Given the description of an element on the screen output the (x, y) to click on. 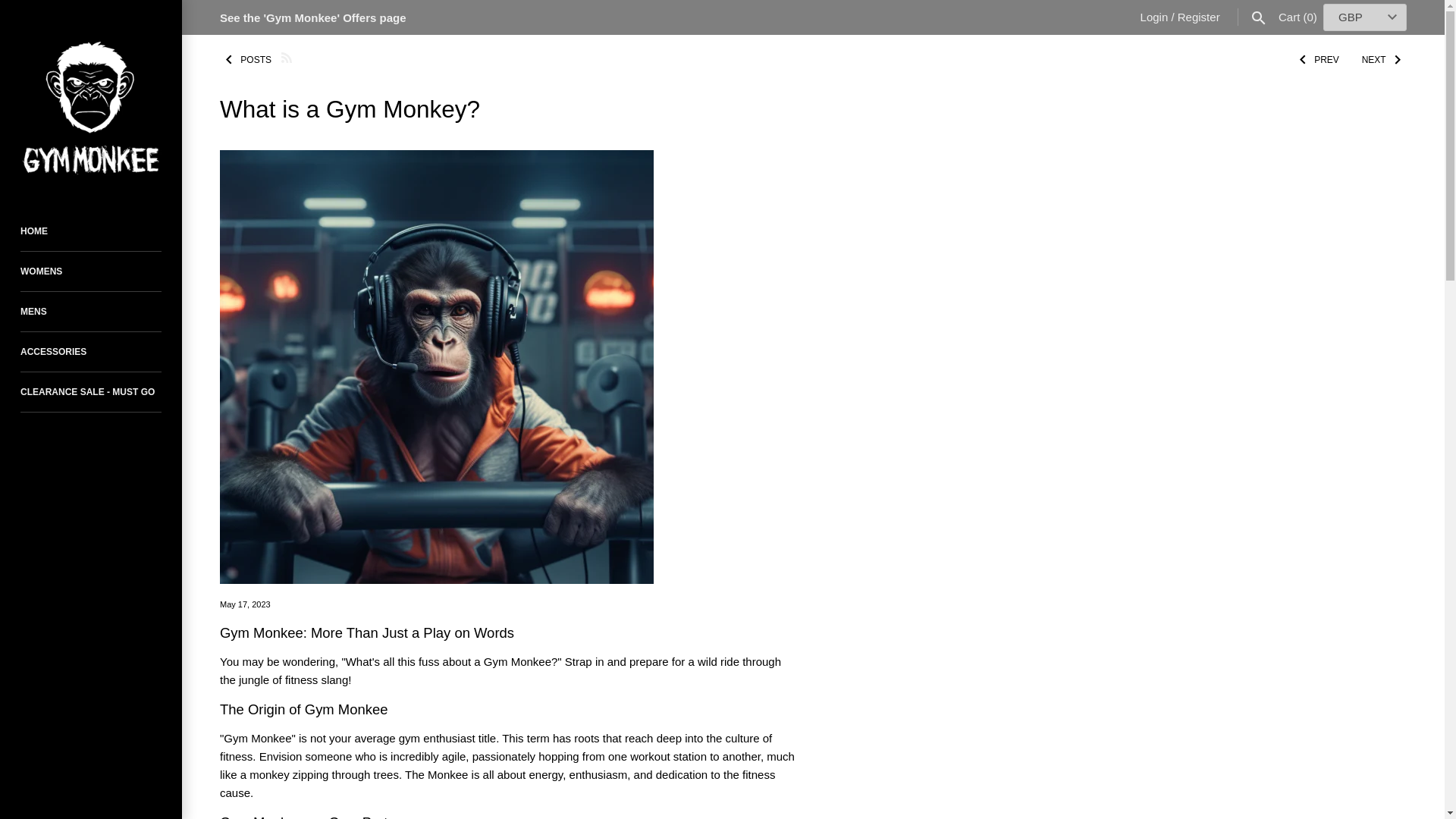
WOMENS (90, 271)
Login (1154, 16)
LEFT POSTS (246, 59)
Search (1258, 16)
HOME (90, 231)
RIGHT (1397, 59)
ACCESSORIES (90, 352)
Search (1258, 18)
LEFT PREV (1317, 59)
NEXT RIGHT (1383, 59)
